Given the description of an element on the screen output the (x, y) to click on. 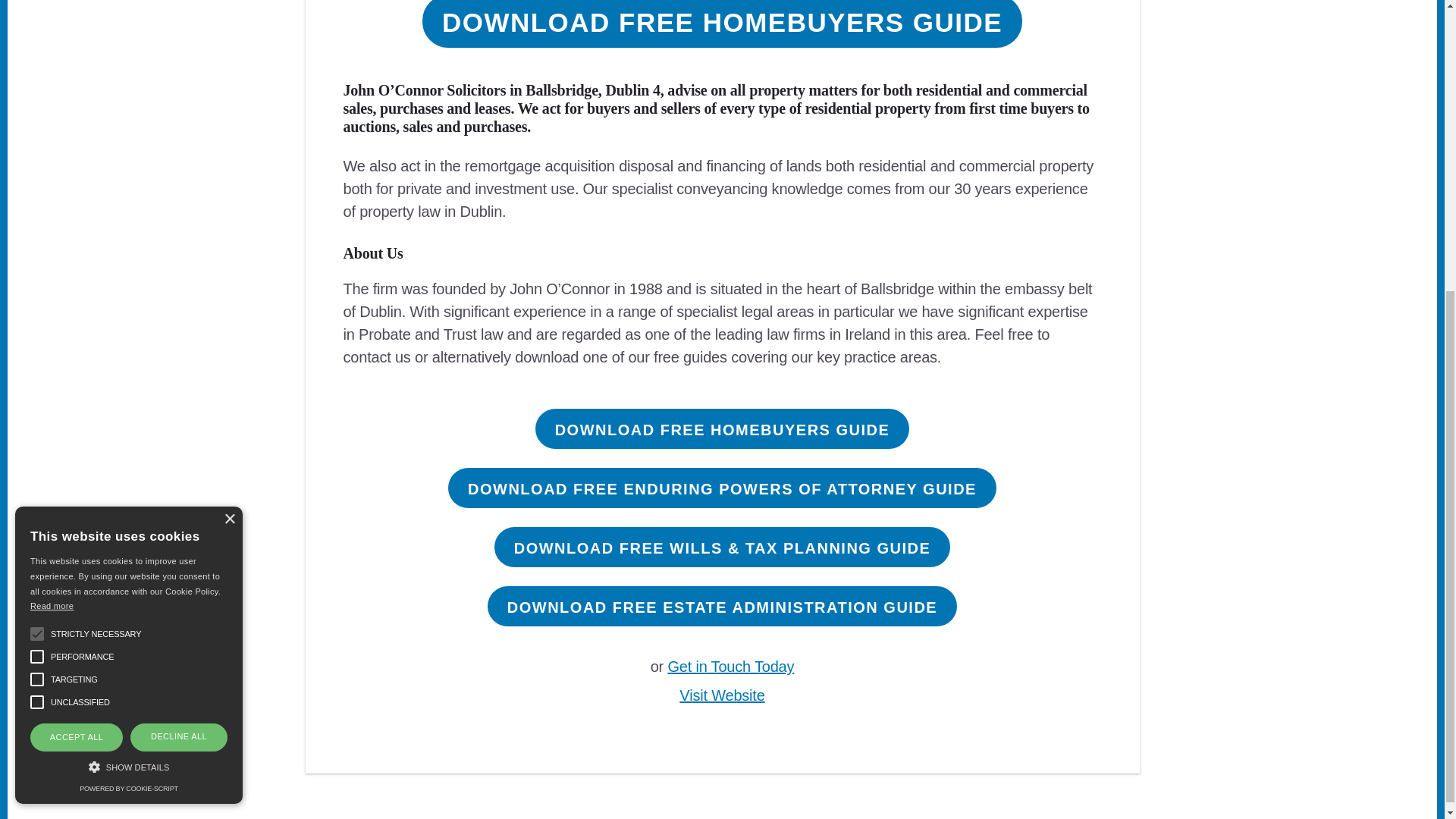
DOWNLOAD FREE HOMEBUYERS GUIDE (722, 428)
Read more (52, 156)
Get in Touch Today (729, 666)
POWERED BY COOKIE-SCRIPT (128, 339)
DOWNLOAD FREE ESTATE ADMINISTRATION GUIDE (721, 606)
DOWNLOAD FREE ENDURING POWERS OF ATTORNEY GUIDE (721, 487)
Visit Website (721, 695)
DOWNLOAD FREE HOMEBUYERS GUIDE (722, 23)
